Given the description of an element on the screen output the (x, y) to click on. 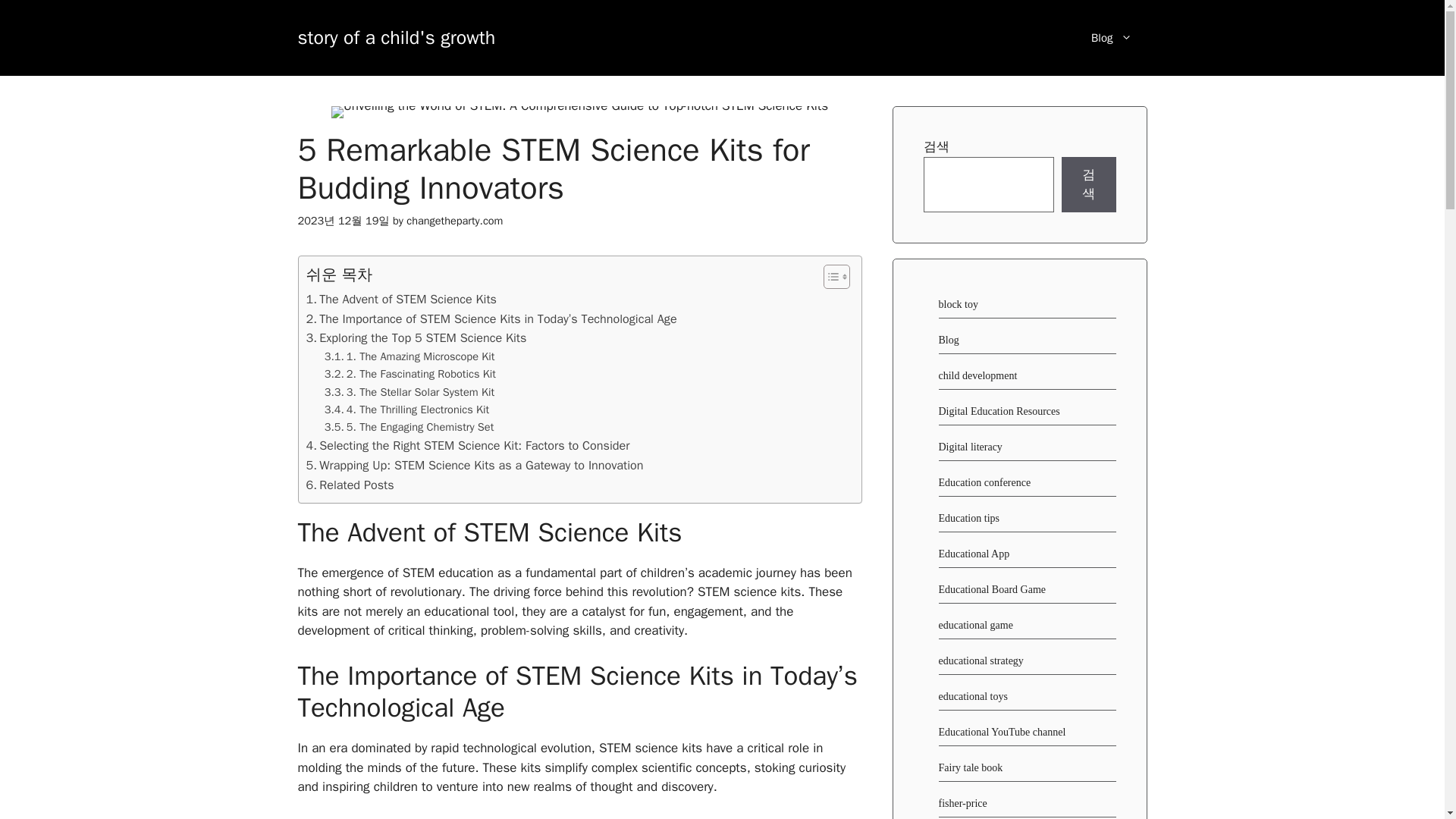
Selecting the Right STEM Science Kit: Factors to Consider (467, 445)
3. The Stellar Solar System Kit (409, 392)
View all posts by changetheparty.com (454, 220)
4. The Thrilling Electronics Kit (406, 409)
The Advent of STEM Science Kits (401, 299)
Related Posts (349, 485)
2. The Fascinating Robotics Kit (410, 374)
4. The Thrilling Electronics Kit (406, 409)
Wrapping Up: STEM Science Kits as a Gateway to Innovation (474, 465)
Exploring the Top 5 STEM Science Kits (416, 338)
